Given the description of an element on the screen output the (x, y) to click on. 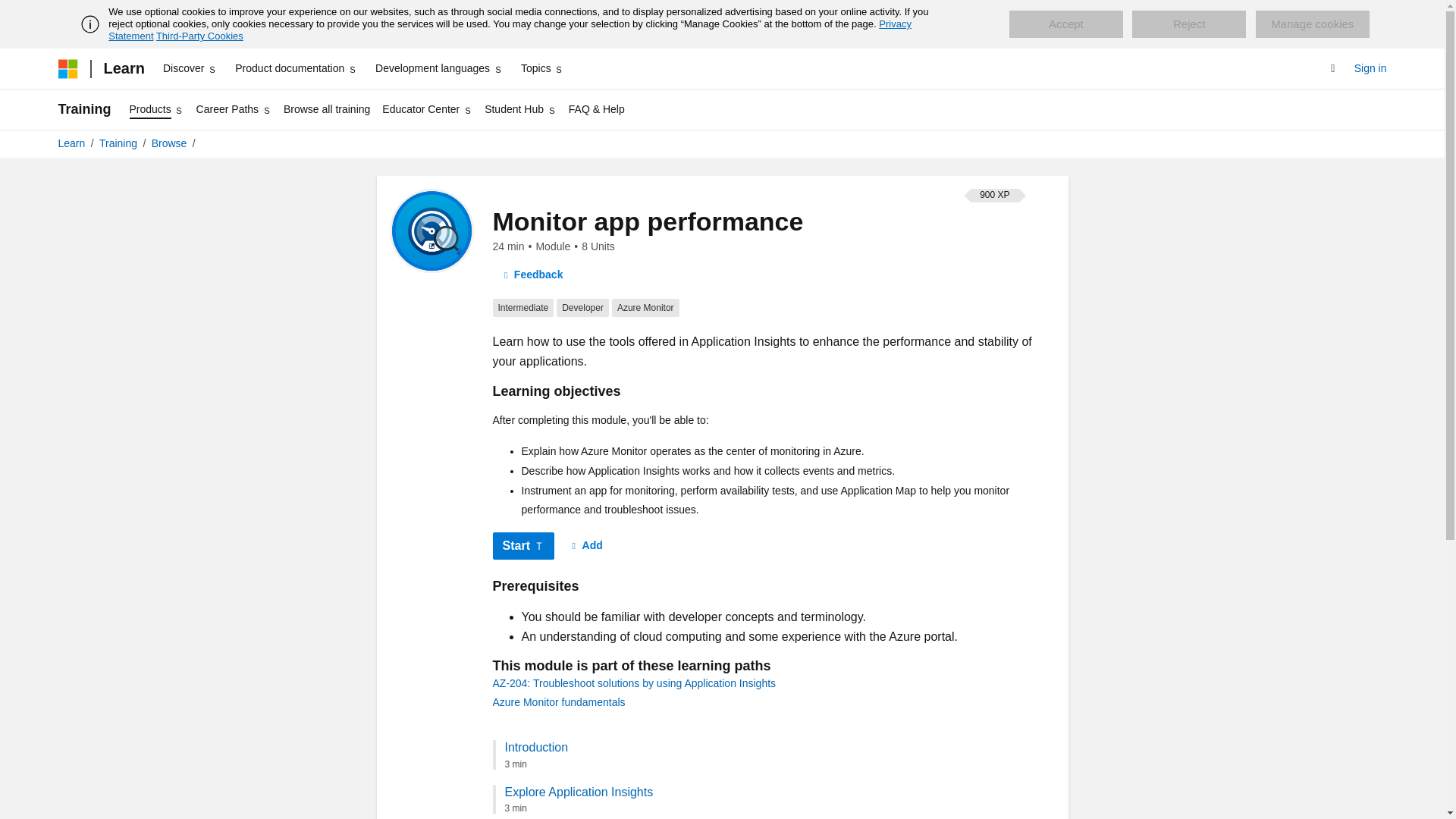
Training (84, 109)
Third-Party Cookies (199, 35)
Reject (1189, 23)
Manage cookies (1312, 23)
Product documentation (295, 68)
Learn (123, 68)
Discover (189, 68)
Skip to main content (11, 11)
Privacy Statement (509, 29)
Topics (542, 68)
Products (156, 109)
Development languages (438, 68)
Accept (1065, 23)
Career Paths (234, 109)
Sign in (1370, 68)
